Given the description of an element on the screen output the (x, y) to click on. 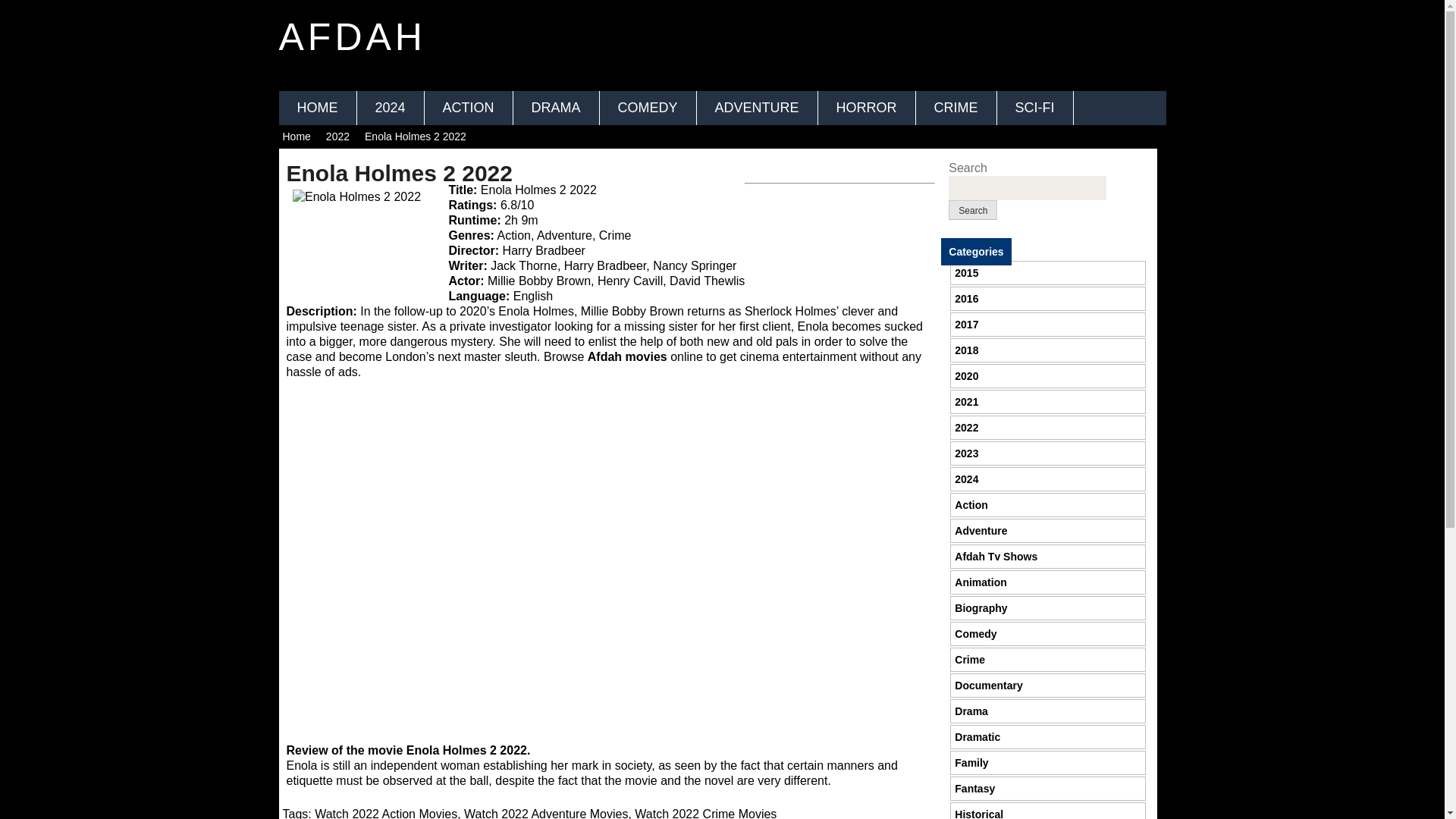
Crime (970, 659)
2024 (389, 107)
Afdah movies (627, 356)
Drama (971, 711)
Comedy (975, 633)
2024 (966, 479)
2022 (337, 136)
Afdah Tv Shows (995, 556)
2017 (966, 324)
AFDAH (352, 37)
ACTION (469, 107)
Animation (980, 582)
2015 (966, 272)
HOME (317, 107)
DRAMA (556, 107)
